Given the description of an element on the screen output the (x, y) to click on. 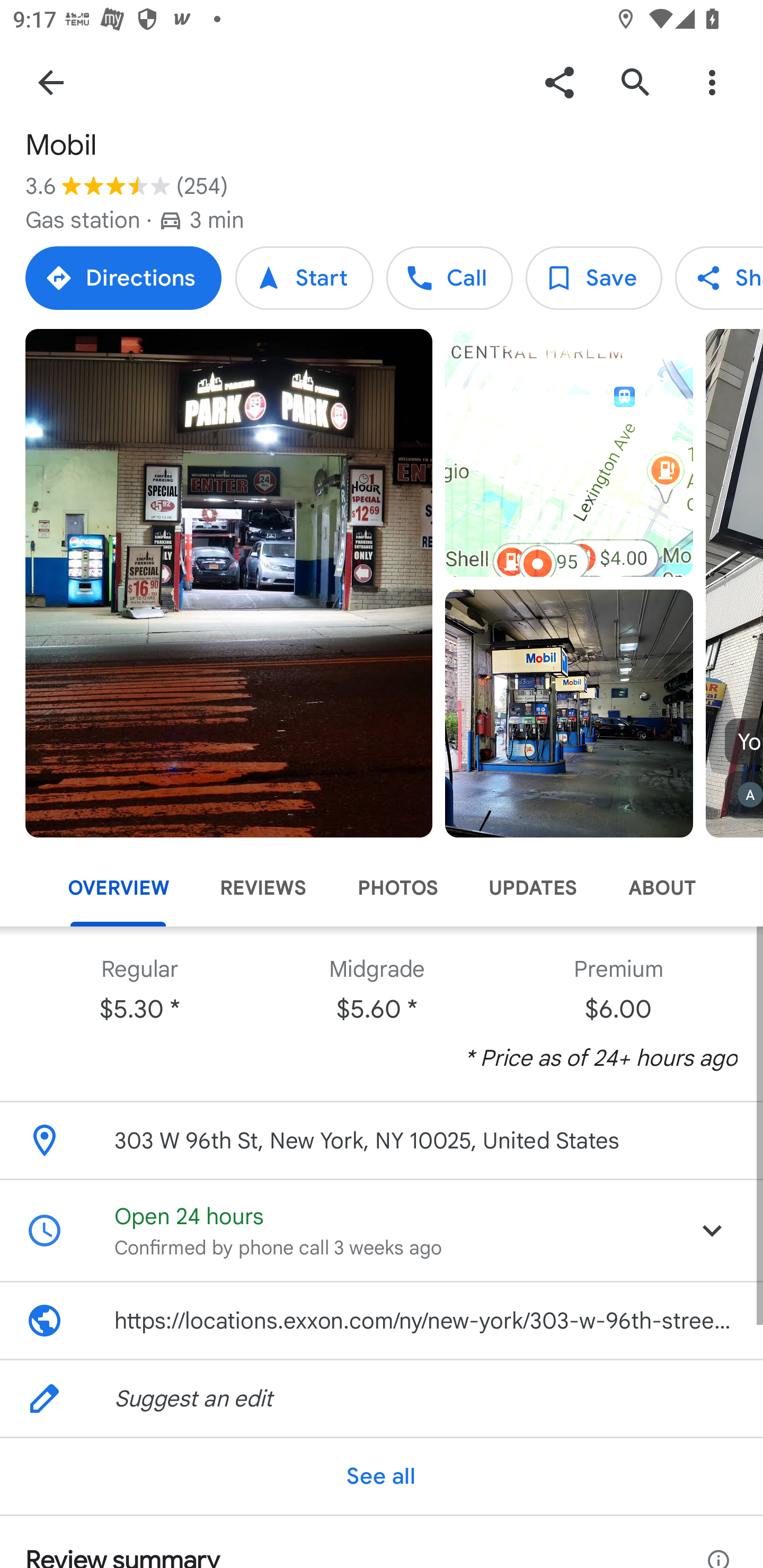
Back to Search (50, 81)
Share (559, 81)
Search (635, 81)
More options for Mobil (711, 81)
Start Start Start (304, 277)
Save Mobil to lists Save Save Mobil to lists (593, 277)
Share Mobil Share Share Mobil (719, 277)
Photo (228, 583)
Video (568, 453)
Photo (568, 713)
REVIEWS Reviews (262, 887)
PHOTOS Photos (397, 887)
UPDATES Updates (532, 887)
ABOUT About (661, 887)
Suggest an edit (381, 1398)
